Given the description of an element on the screen output the (x, y) to click on. 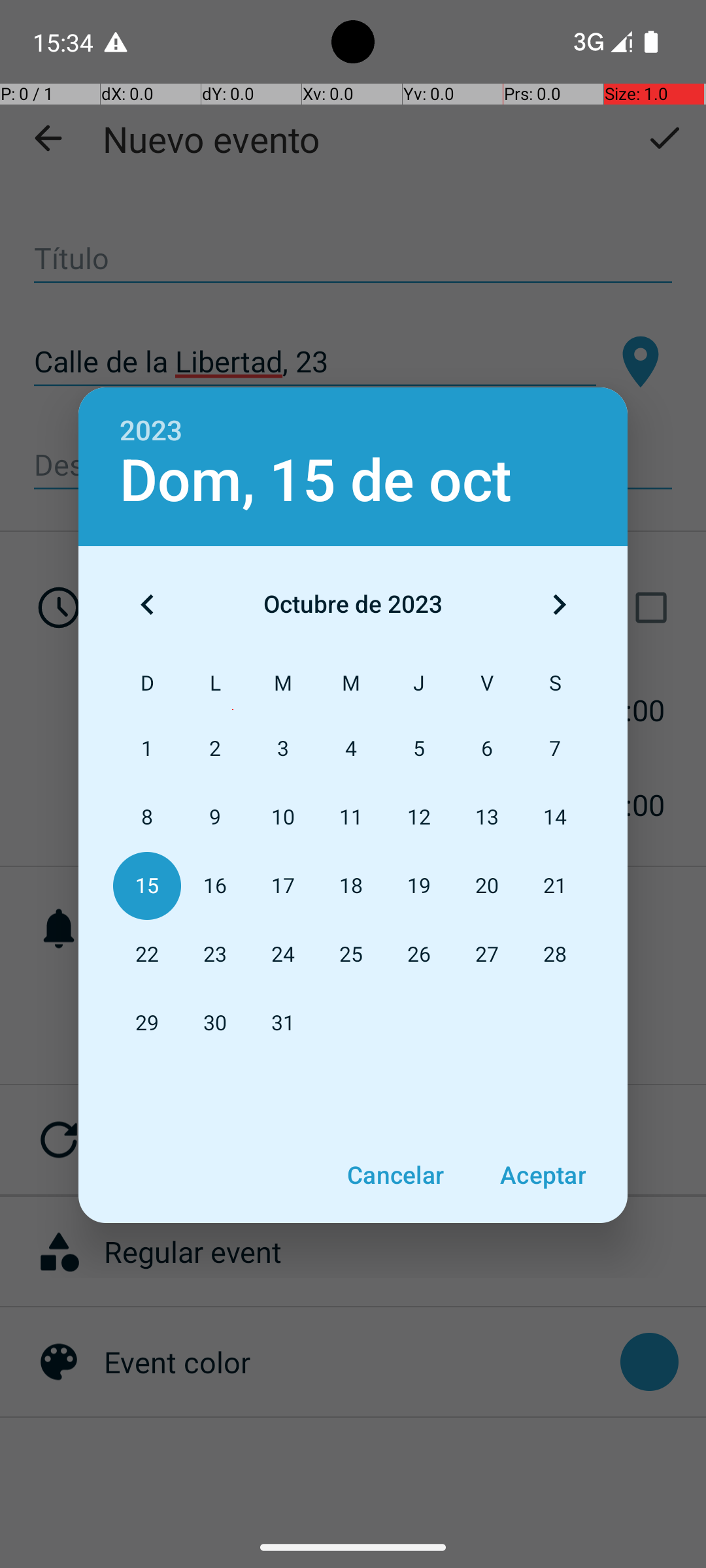
Dom, 15 de oct Element type: android.widget.TextView (315, 480)
Mes anterior Element type: android.widget.ImageButton (146, 604)
Mes siguiente Element type: android.widget.ImageButton (558, 604)
Cancelar Element type: android.widget.Button (394, 1174)
